Given the description of an element on the screen output the (x, y) to click on. 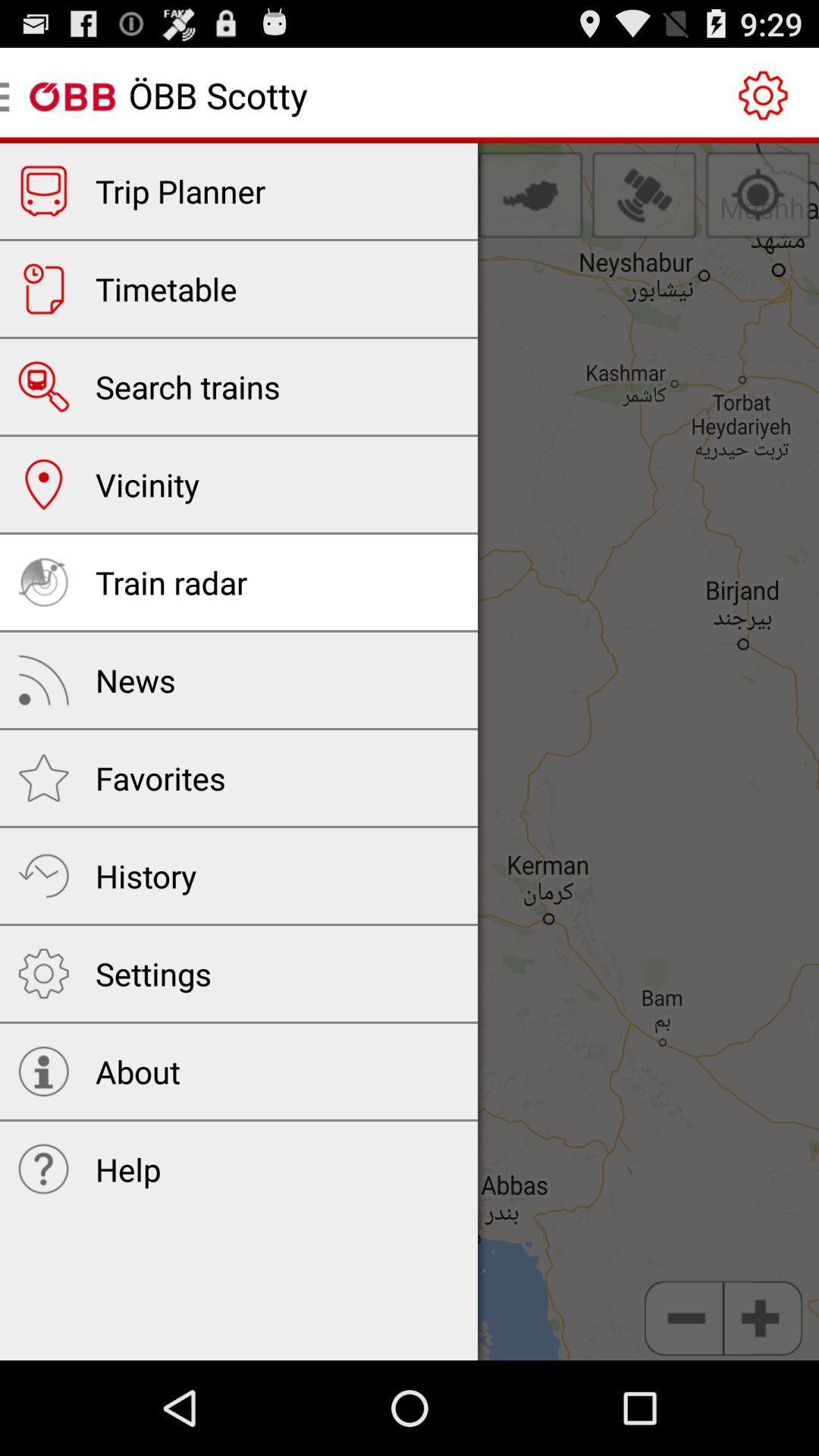
flip until about app (137, 1071)
